Given the description of an element on the screen output the (x, y) to click on. 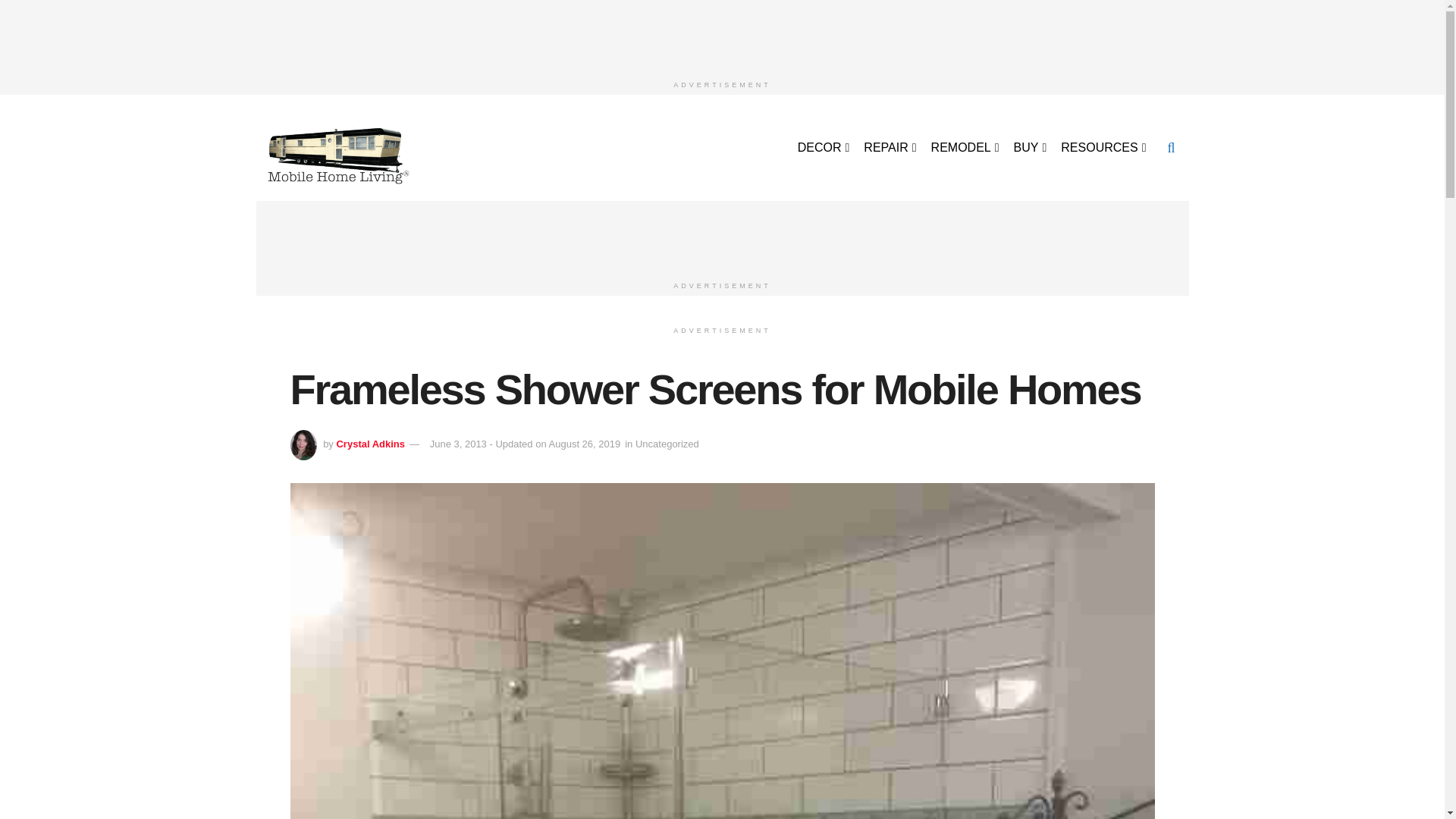
Advertisement (722, 33)
BUY (1029, 147)
Advertisement (722, 234)
REPAIR (888, 147)
DECOR (822, 147)
REMODEL (964, 147)
RESOURCES (1101, 147)
